Given the description of an element on the screen output the (x, y) to click on. 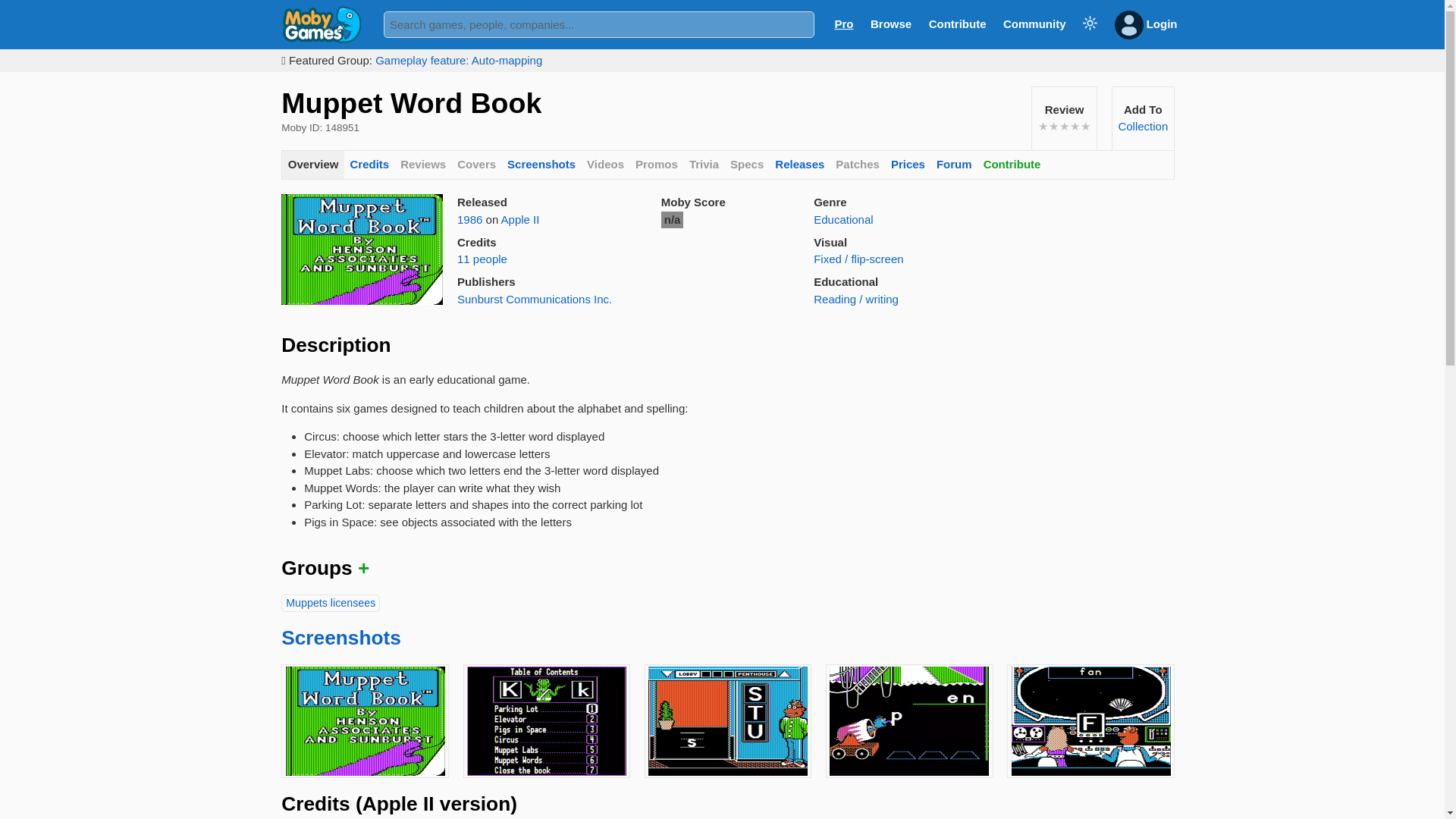
Screenshots (541, 165)
Pro (843, 23)
Collection (1142, 125)
Videos (605, 165)
Credits (368, 165)
Reviews (422, 165)
Overview (312, 165)
Covers (476, 165)
Gameplay feature: Auto-mapping (458, 60)
